Given the description of an element on the screen output the (x, y) to click on. 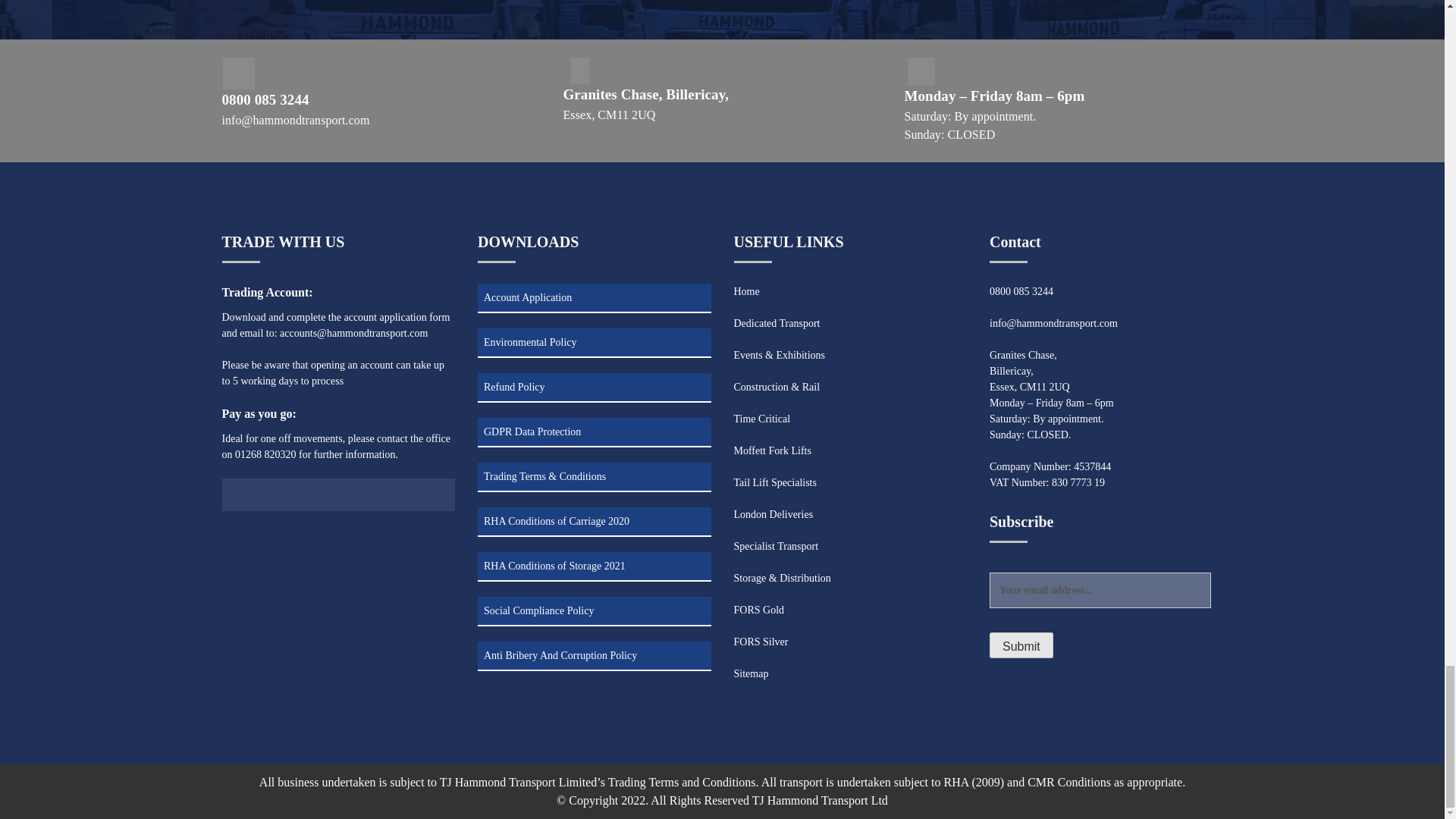
Submit (1021, 645)
